Given the description of an element on the screen output the (x, y) to click on. 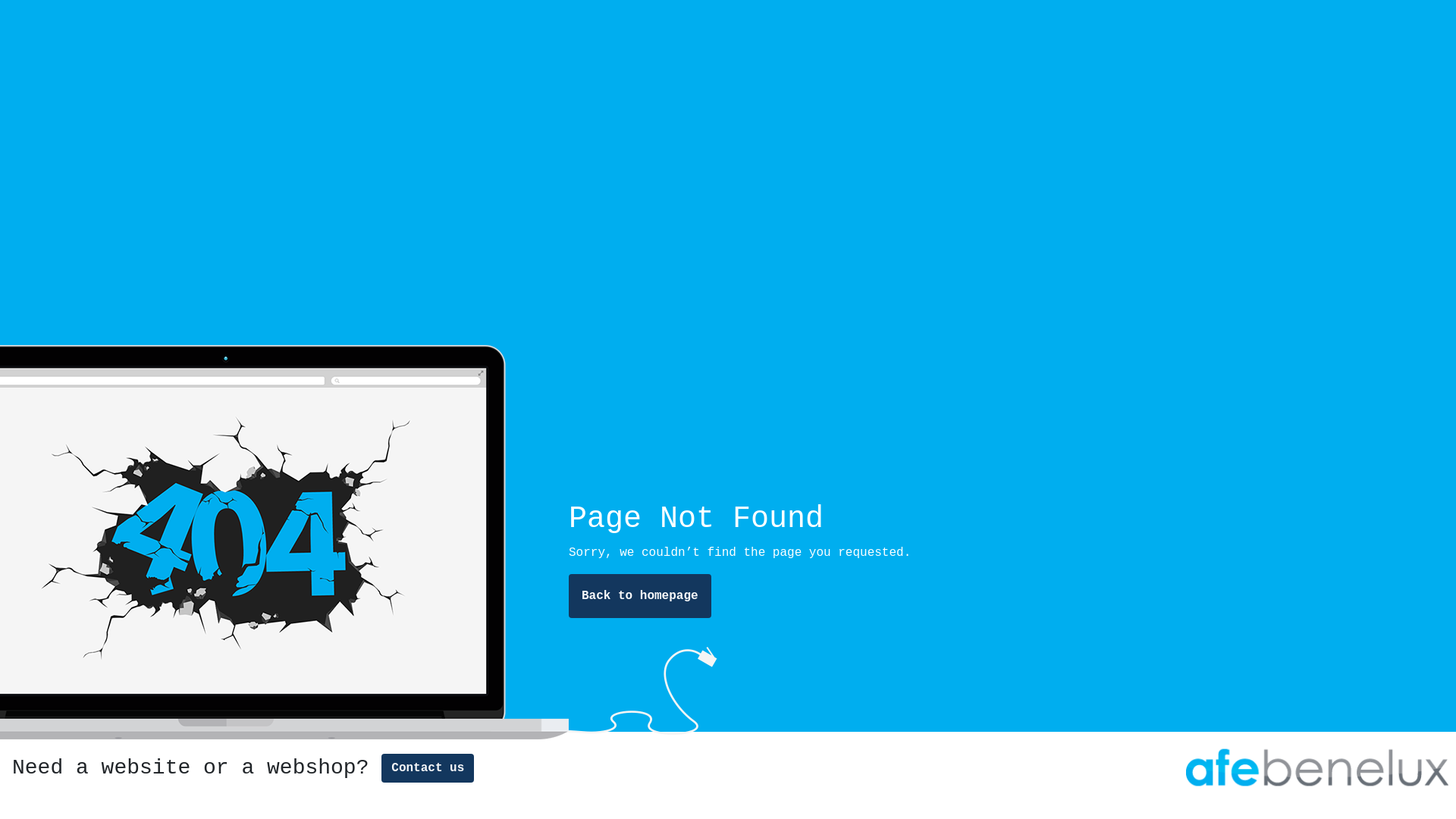
Contact us Element type: text (427, 767)
Back to homepage Element type: text (639, 596)
